Given the description of an element on the screen output the (x, y) to click on. 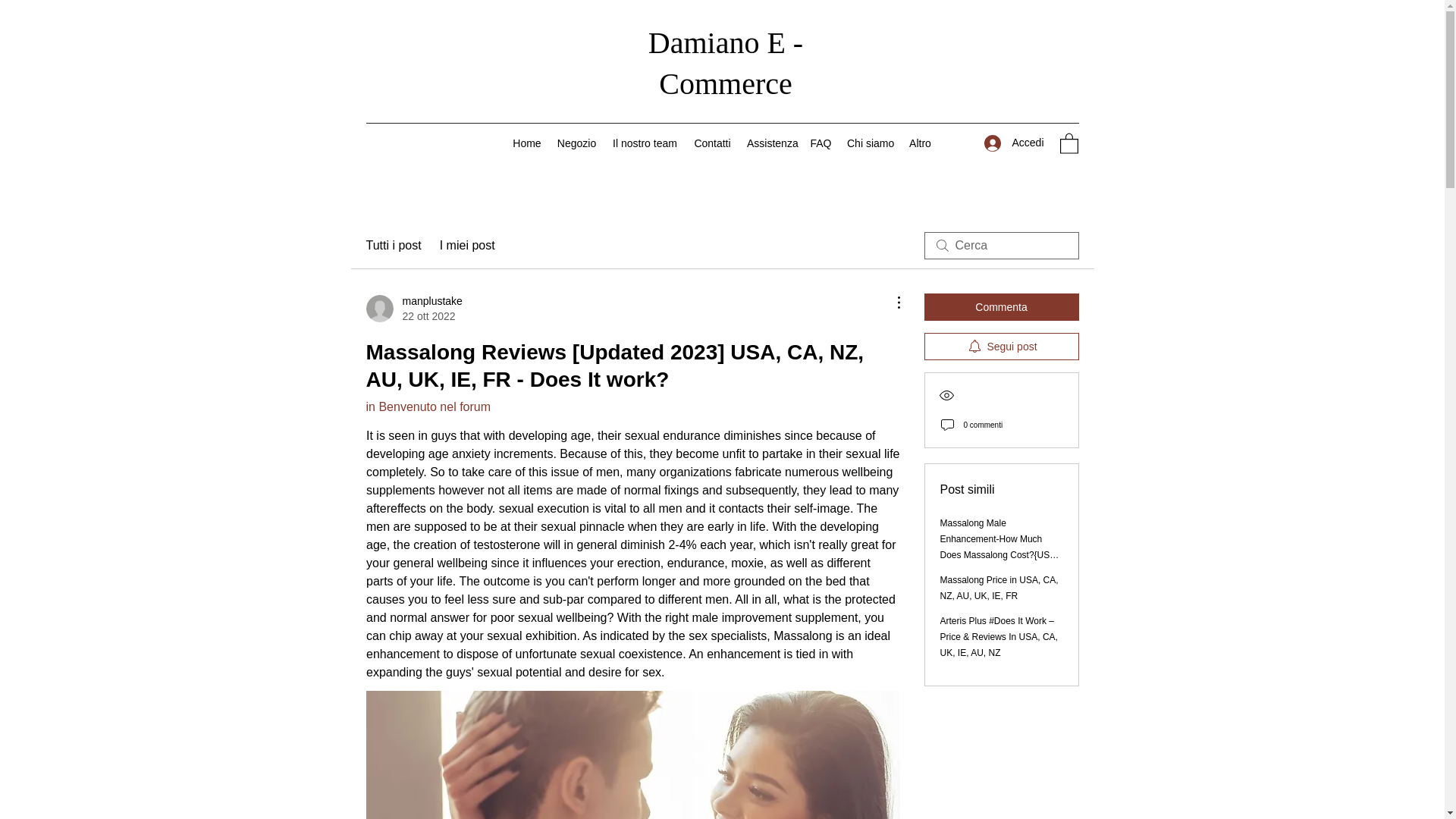
Tutti i post (413, 308)
Chi siamo (392, 245)
Home (870, 142)
I miei post (526, 142)
Damiano E - Commerce (467, 245)
Il nostro team (725, 62)
Negozio (644, 142)
Contatti (576, 142)
Accedi (712, 142)
Assistenza (1014, 142)
FAQ (770, 142)
in Benvenuto nel forum (821, 142)
